Given the description of an element on the screen output the (x, y) to click on. 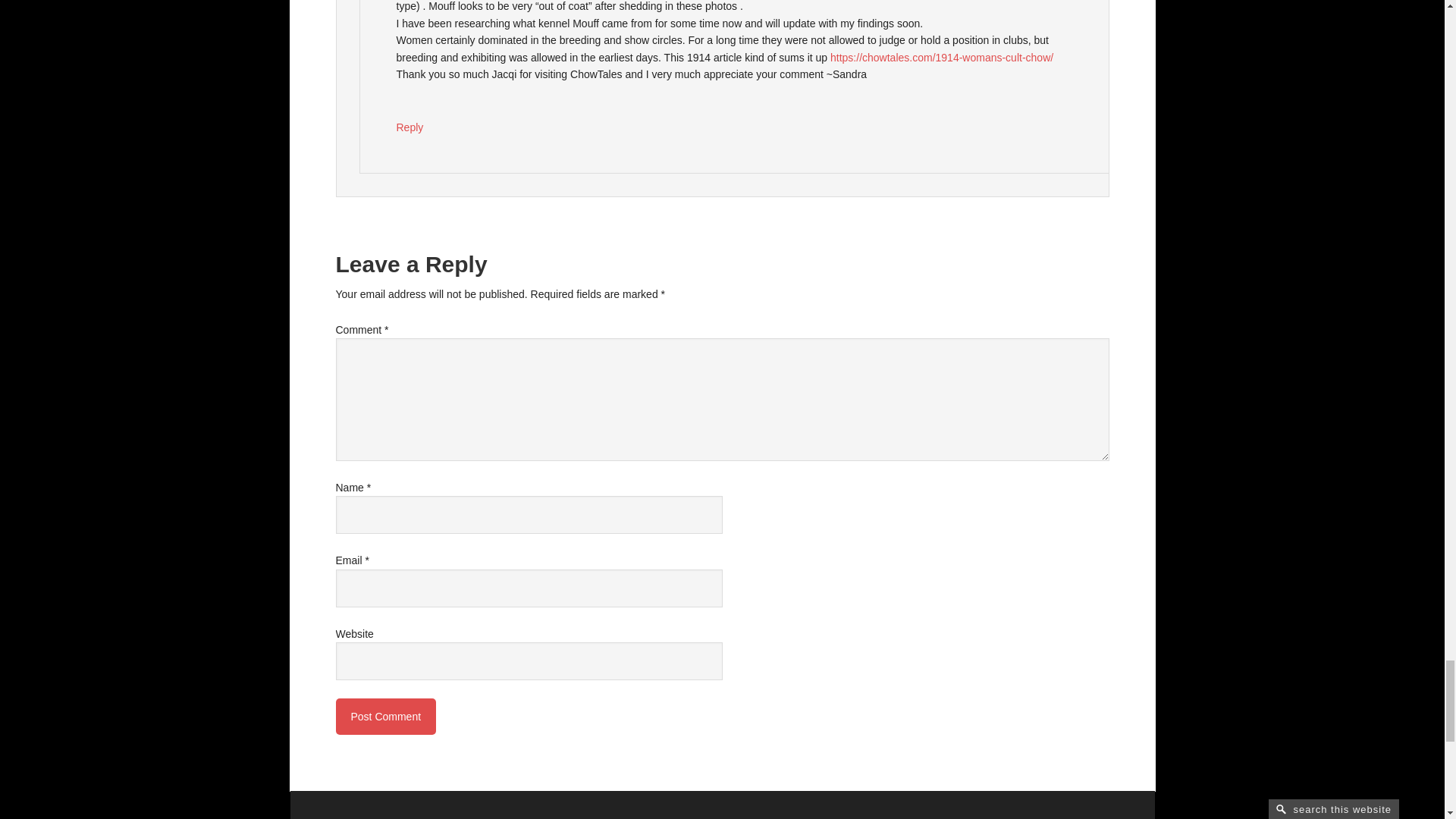
Post Comment (384, 716)
